Given the description of an element on the screen output the (x, y) to click on. 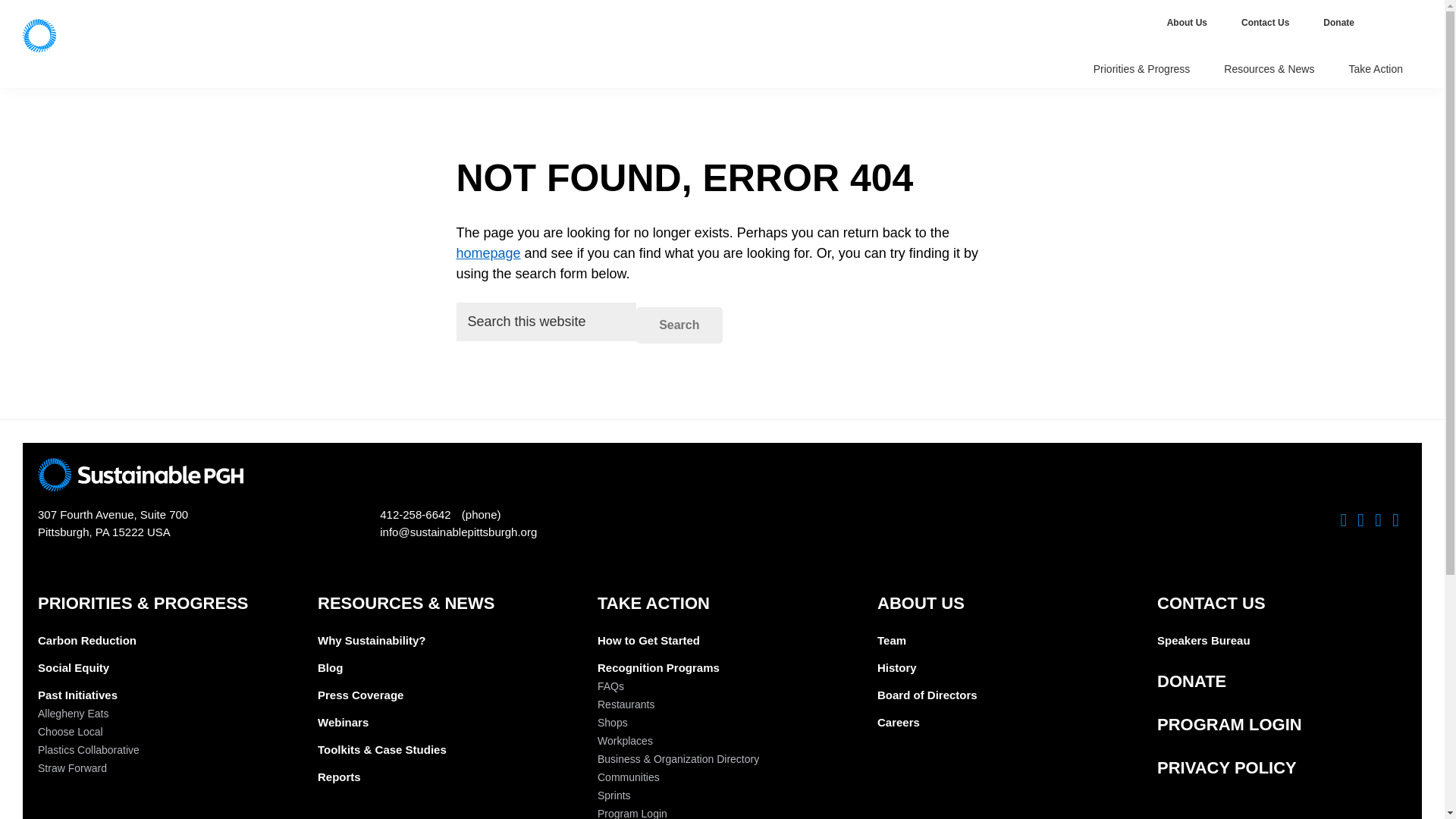
Take Action (1377, 69)
Contact Us (1266, 22)
Search (679, 325)
Donate (1340, 22)
About Us (1188, 22)
Search (679, 325)
